Given the description of an element on the screen output the (x, y) to click on. 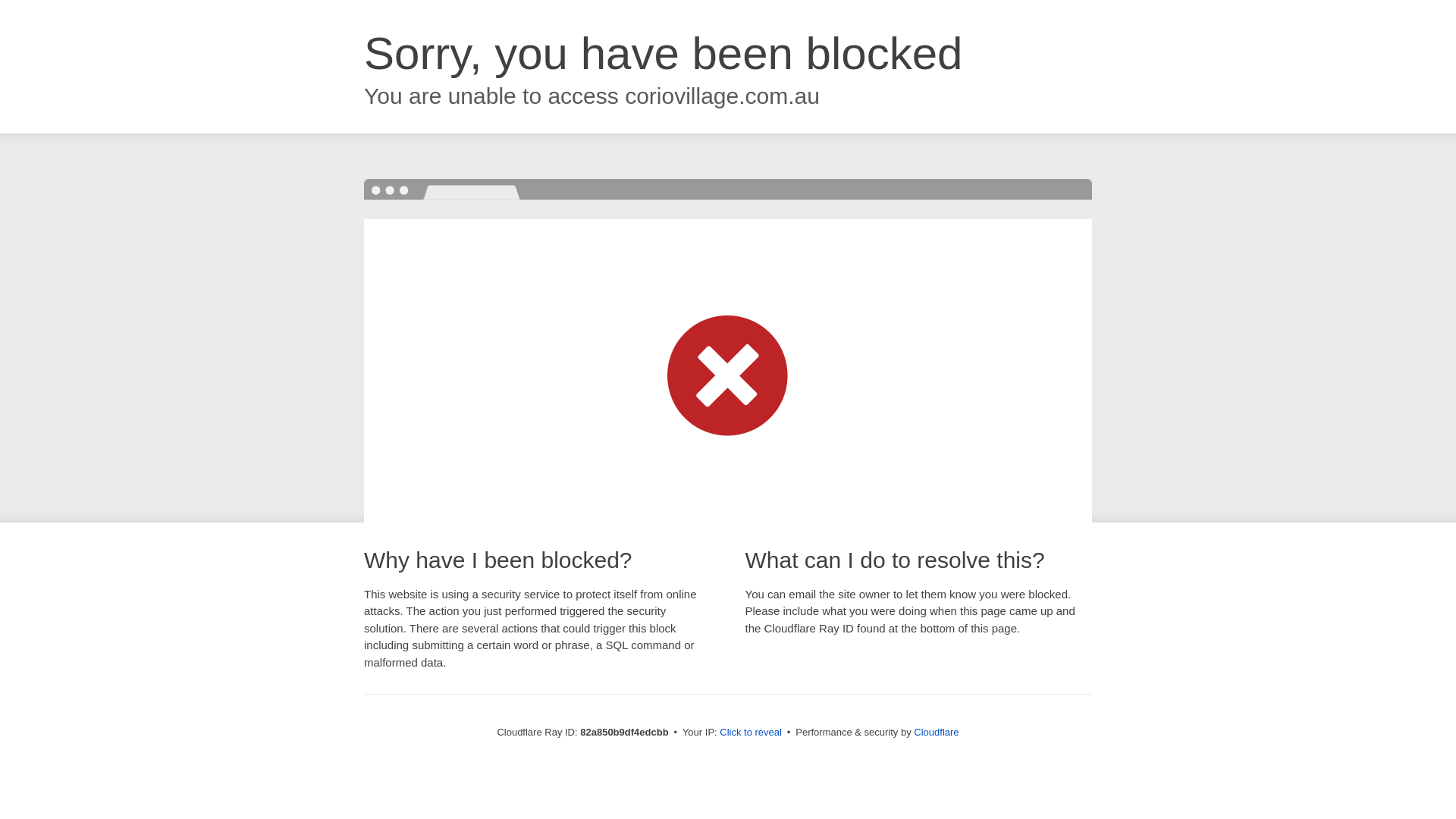
Click to reveal Element type: text (750, 732)
Cloudflare Element type: text (935, 731)
